Given the description of an element on the screen output the (x, y) to click on. 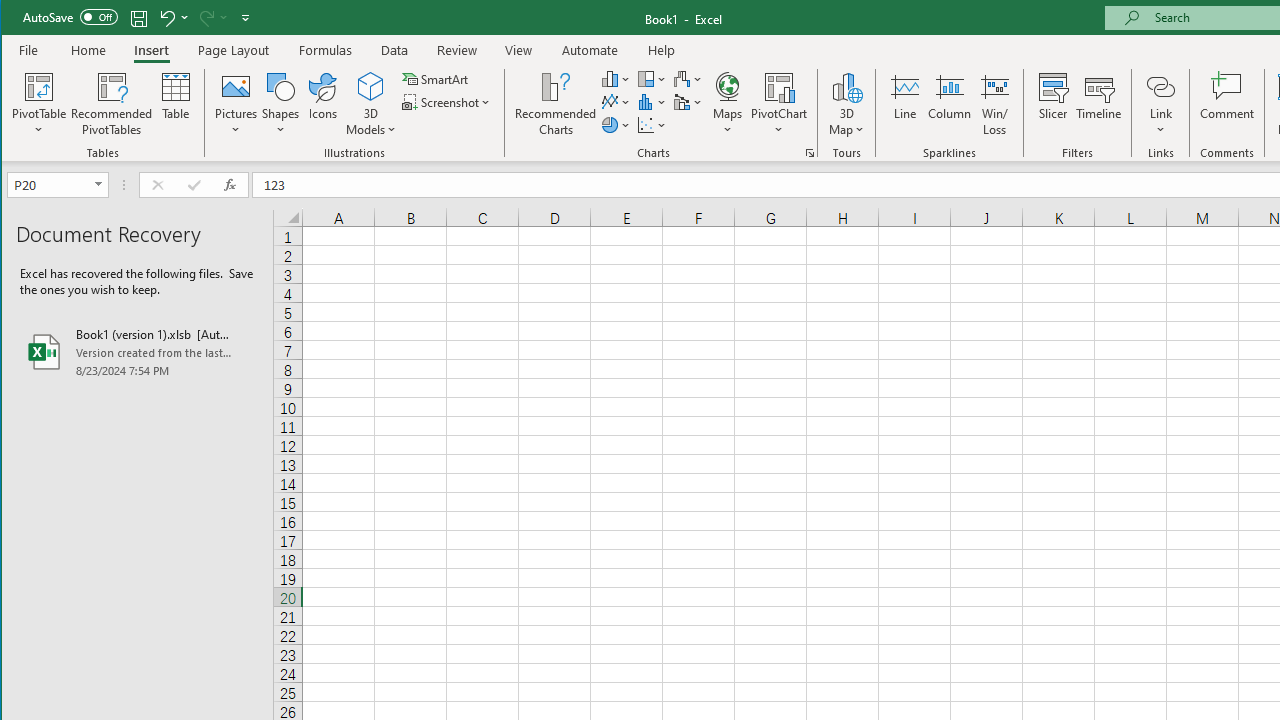
Timeline (1098, 104)
Column (949, 104)
Win/Loss (995, 104)
Maps (727, 104)
Pictures (235, 104)
PivotTable (39, 104)
Automate (589, 50)
Recommended PivotTables (111, 104)
3D Models (371, 104)
Slicer... (1052, 104)
